Given the description of an element on the screen output the (x, y) to click on. 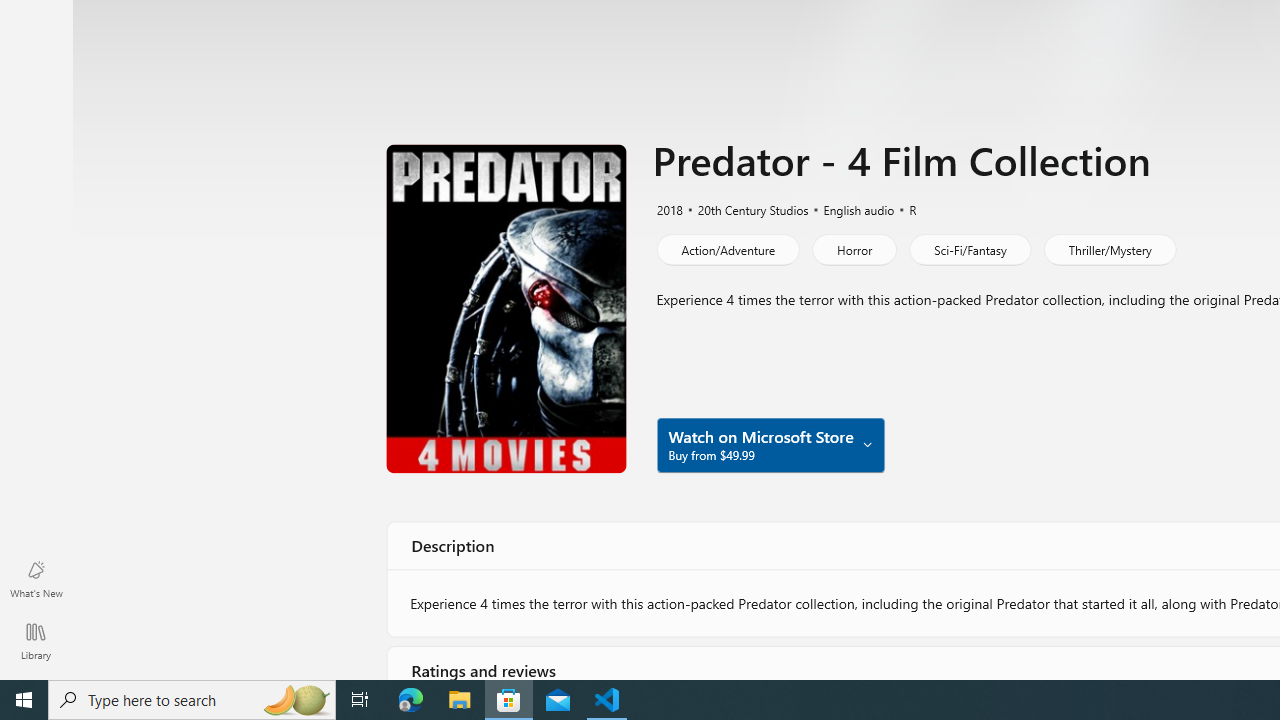
Sci-Fi/Fantasy (969, 248)
2018 (667, 208)
R (904, 208)
What's New (35, 578)
Horror (854, 248)
20th Century Studios (744, 208)
Thriller/Mystery (1109, 248)
English audio (850, 208)
Action/Adventure (726, 248)
Watch on Microsoft Store Buy from $49.99 (769, 444)
Library (35, 640)
